Given the description of an element on the screen output the (x, y) to click on. 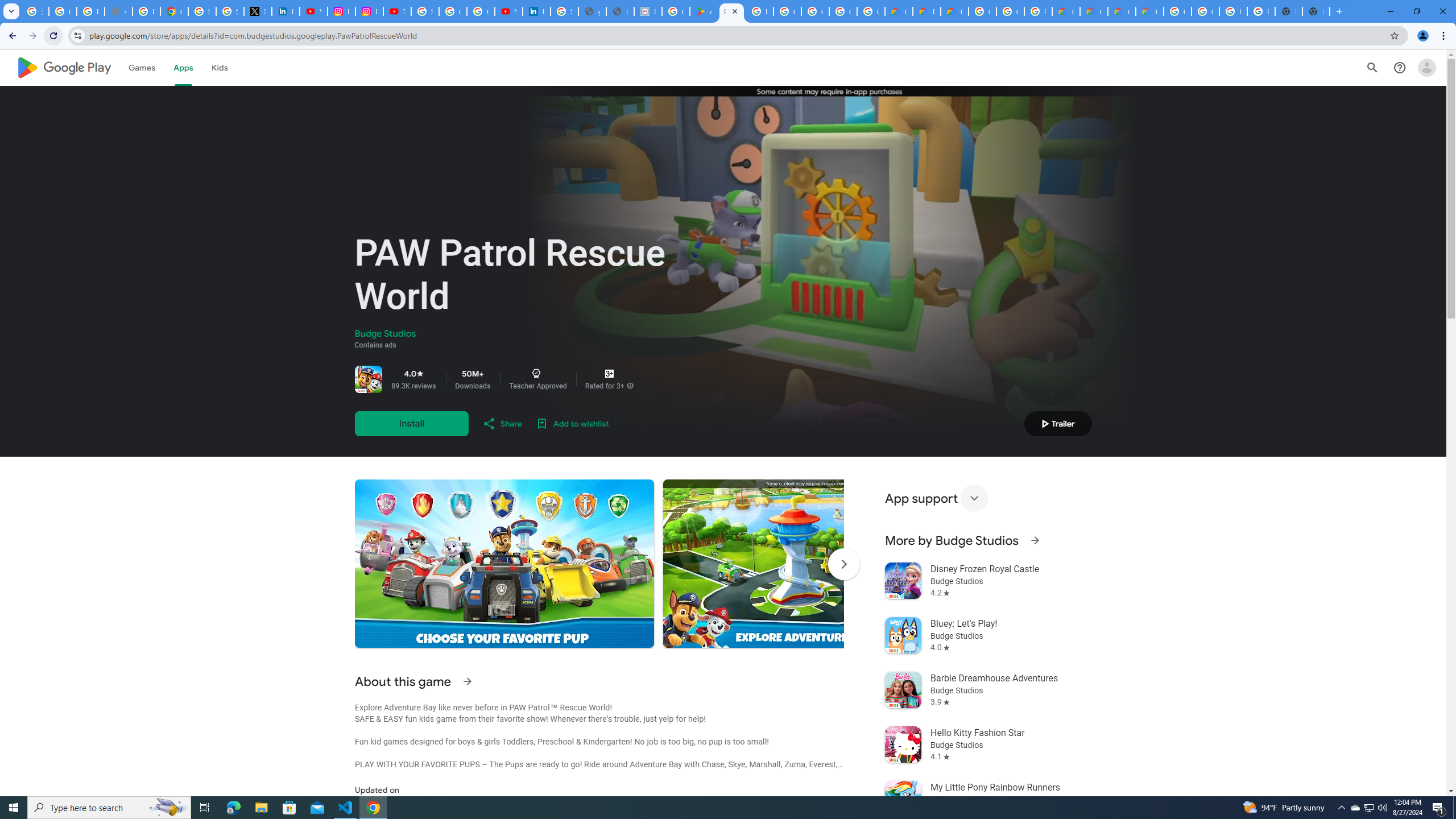
Budge Studios (384, 333)
Kids (219, 67)
Install (410, 423)
Google Cloud Platform (1177, 11)
Share (502, 422)
Google Workspace - Specific Terms (842, 11)
Content rating (609, 373)
Google Cloud Pricing Calculator (1093, 11)
Android Apps on Google Play (703, 11)
